Given the description of an element on the screen output the (x, y) to click on. 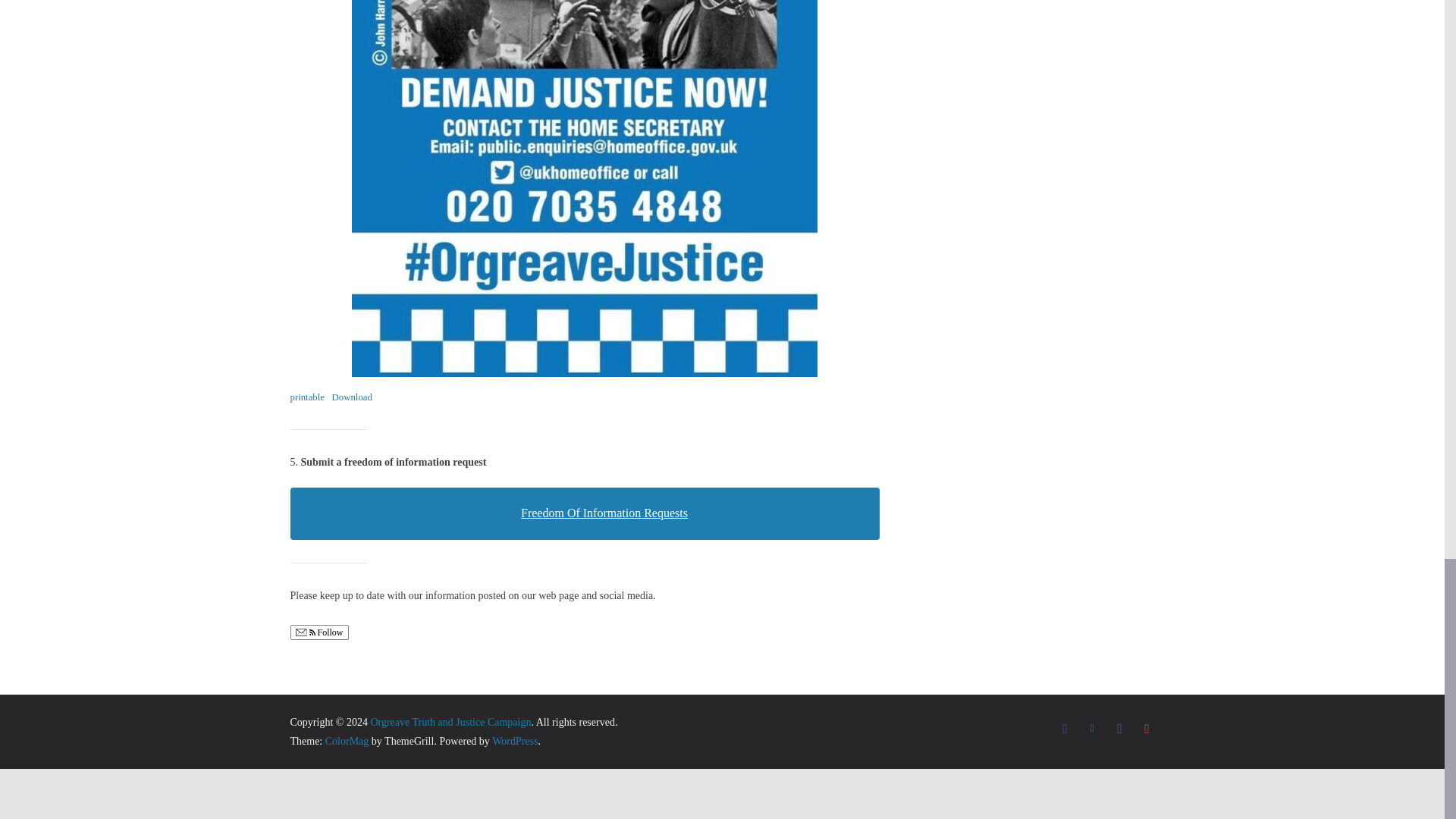
Email, RSS (305, 633)
Orgreave Truth and Justice Campaign (450, 722)
ColorMag (346, 740)
WordPress (514, 740)
